Given the description of an element on the screen output the (x, y) to click on. 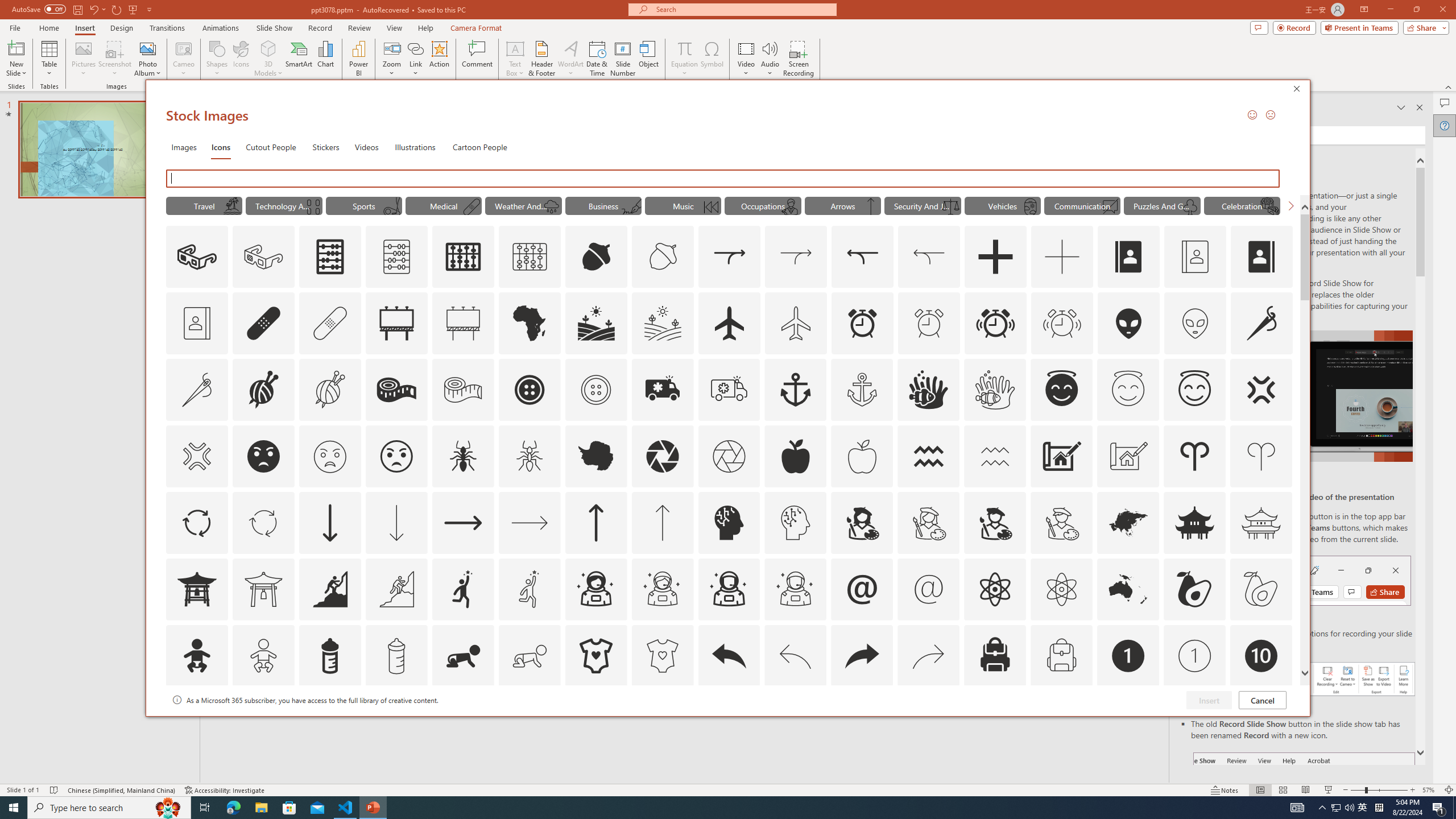
AutomationID: Icons_ArrowCircle (196, 522)
AutomationID: Icons_AlterationsTailoring_M (196, 389)
AutomationID: Icons_ArrowCircle_M (263, 522)
AutomationID: Icons_PlaneWindow_M (1030, 206)
AutomationID: Icons_Add_M (1062, 256)
AutomationID: Icons_CommentSlashSilence_M (1110, 206)
AutomationID: Icons_Backpack_M (1061, 655)
AutomationID: Icons_Apple (795, 455)
